Given the description of an element on the screen output the (x, y) to click on. 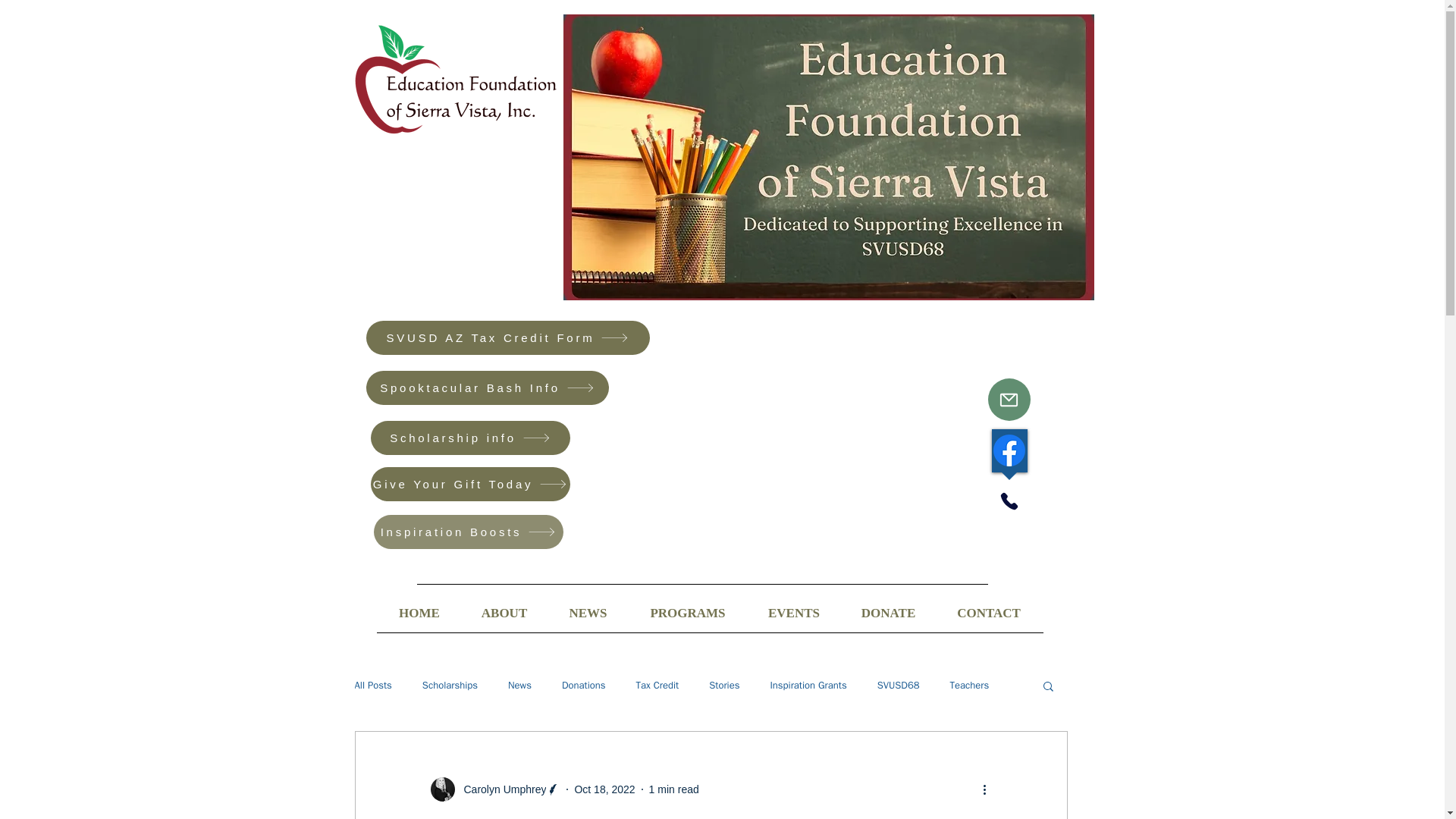
CONTACT (988, 612)
HOME (419, 612)
SVUSD68 (898, 685)
Scholarships (449, 685)
1 min read (673, 788)
Give Your Gift Today (469, 483)
Spooktacular Bash Info (486, 387)
SVUSD AZ Tax Credit Form (507, 337)
Scholarship info (469, 437)
Teachers (970, 685)
DONATE (888, 612)
Donations (583, 685)
EVENTS (794, 612)
Stories (724, 685)
News (519, 685)
